Given the description of an element on the screen output the (x, y) to click on. 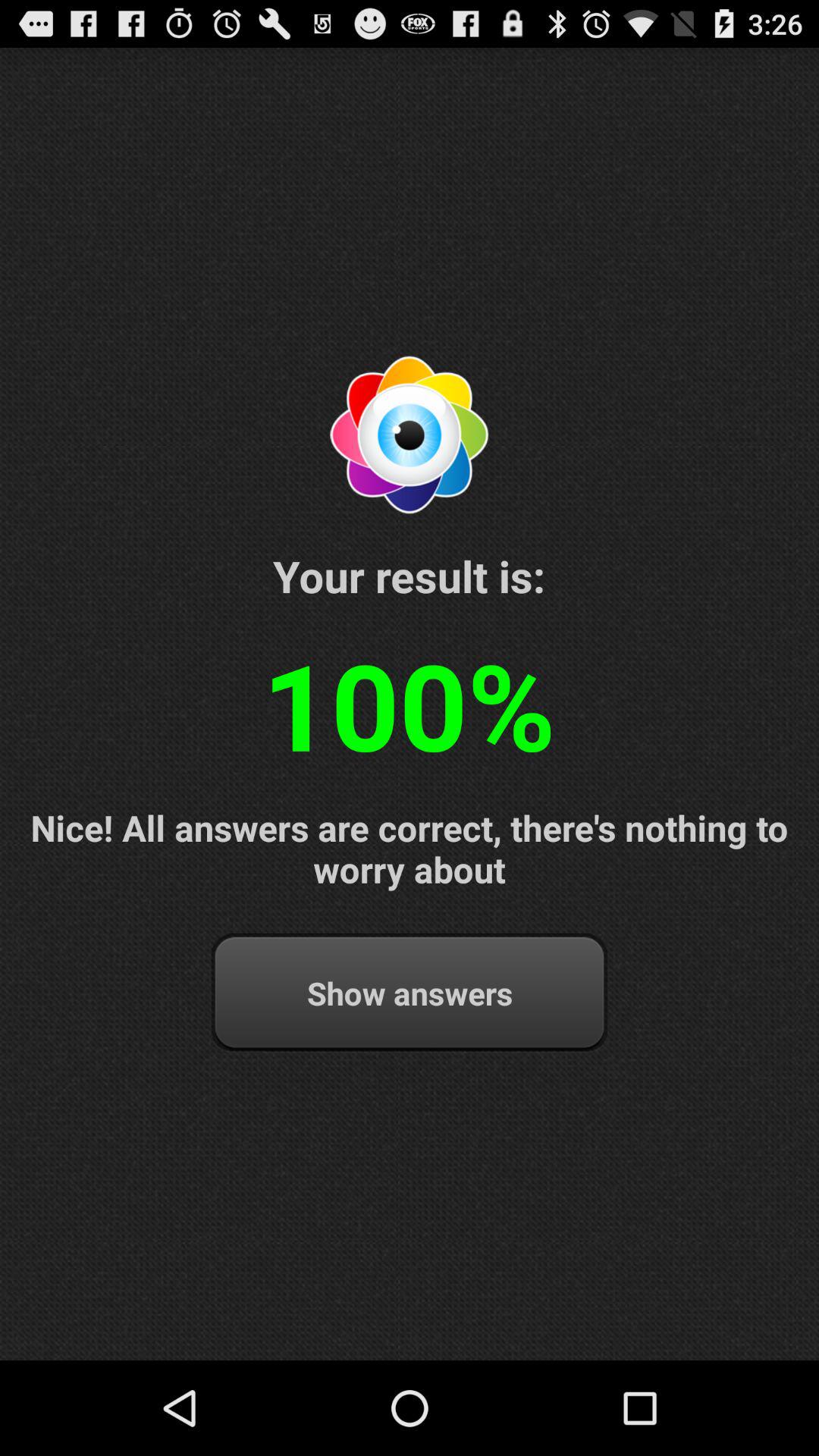
tap the show answers at the bottom (409, 992)
